Given the description of an element on the screen output the (x, y) to click on. 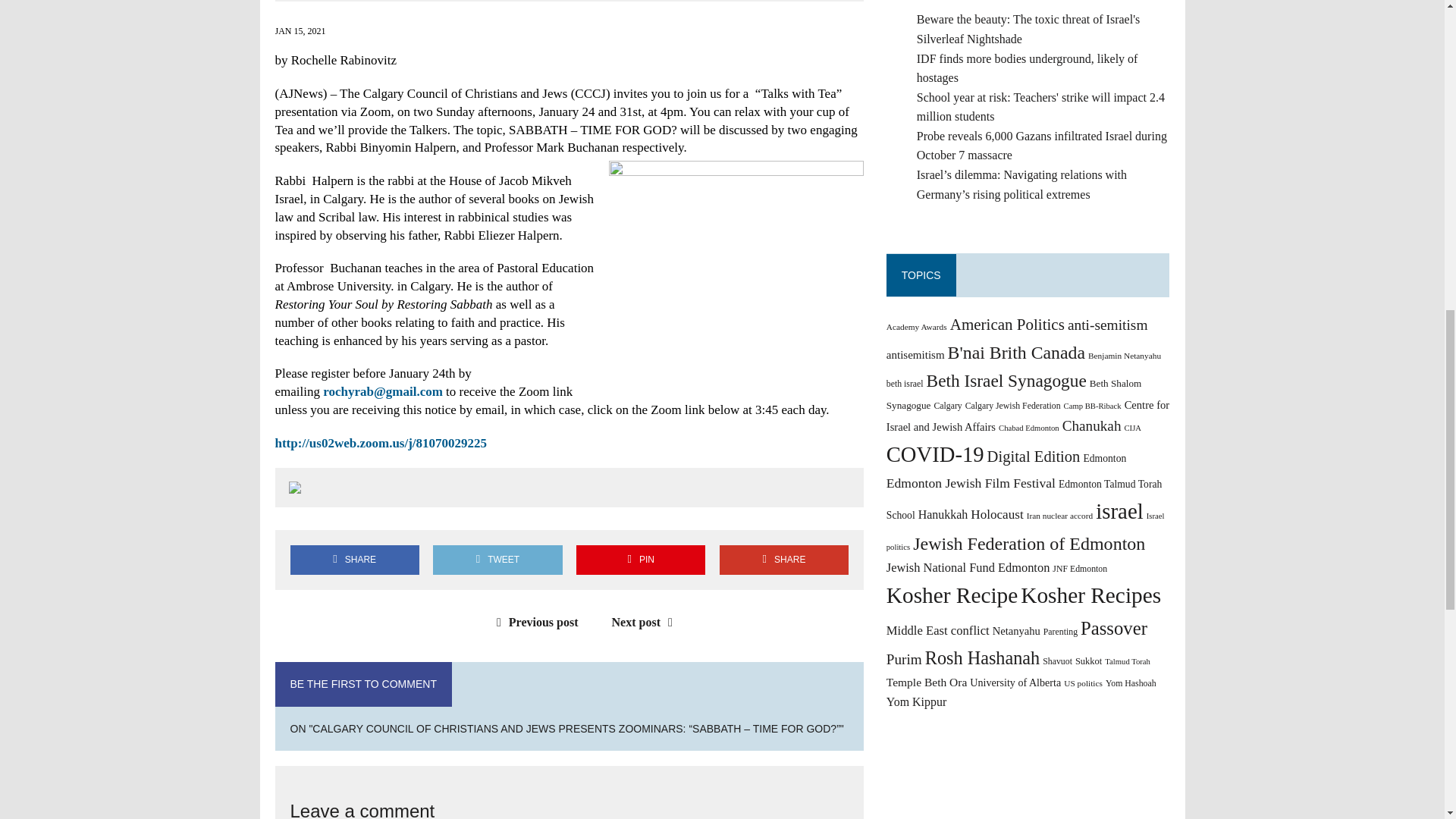
Tweet This Post (497, 559)
Pin This Post (640, 559)
Share on Facebook (354, 559)
